Given the description of an element on the screen output the (x, y) to click on. 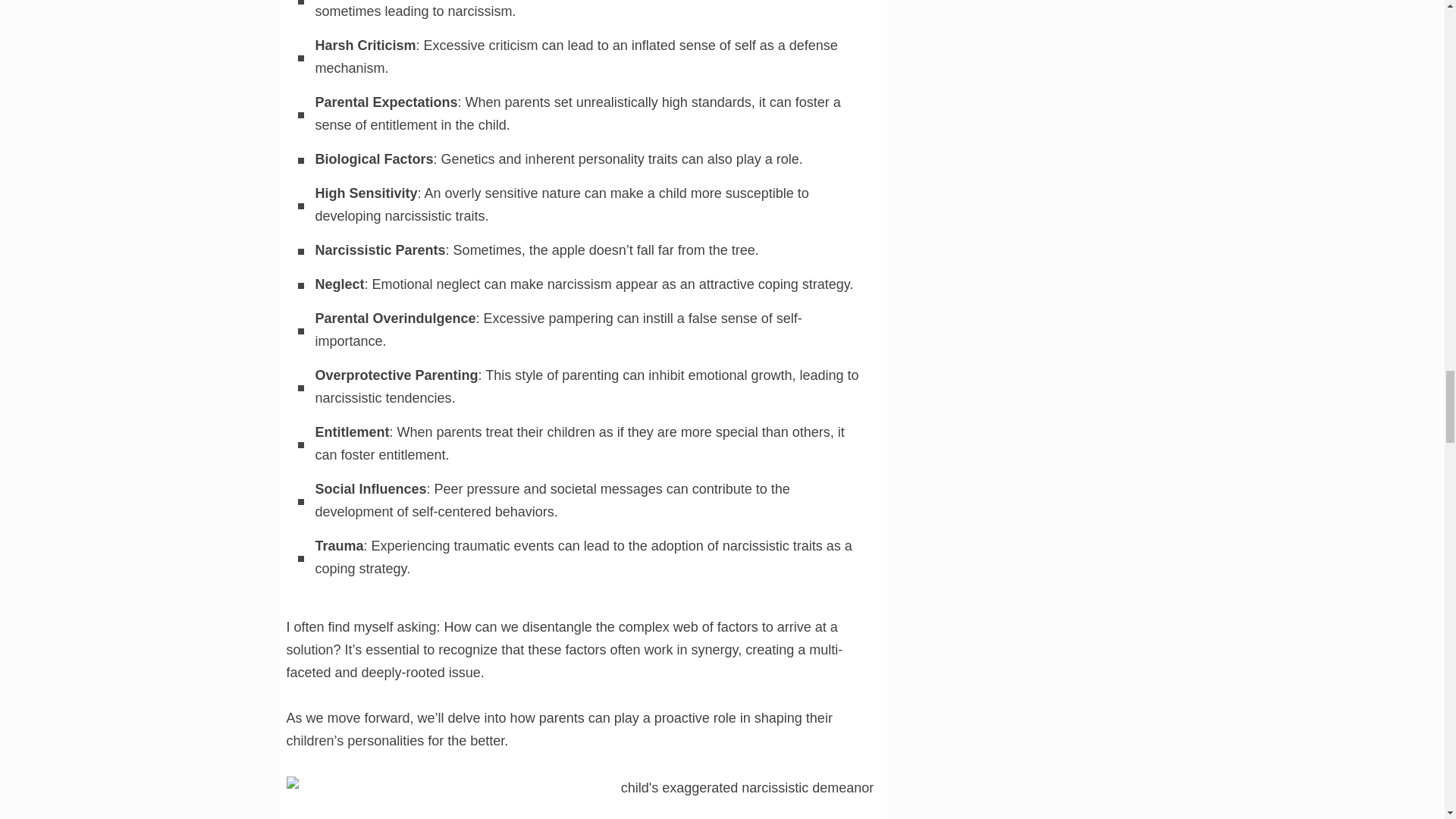
child's exaggerated narcissistic demeanor (741, 797)
